Given the description of an element on the screen output the (x, y) to click on. 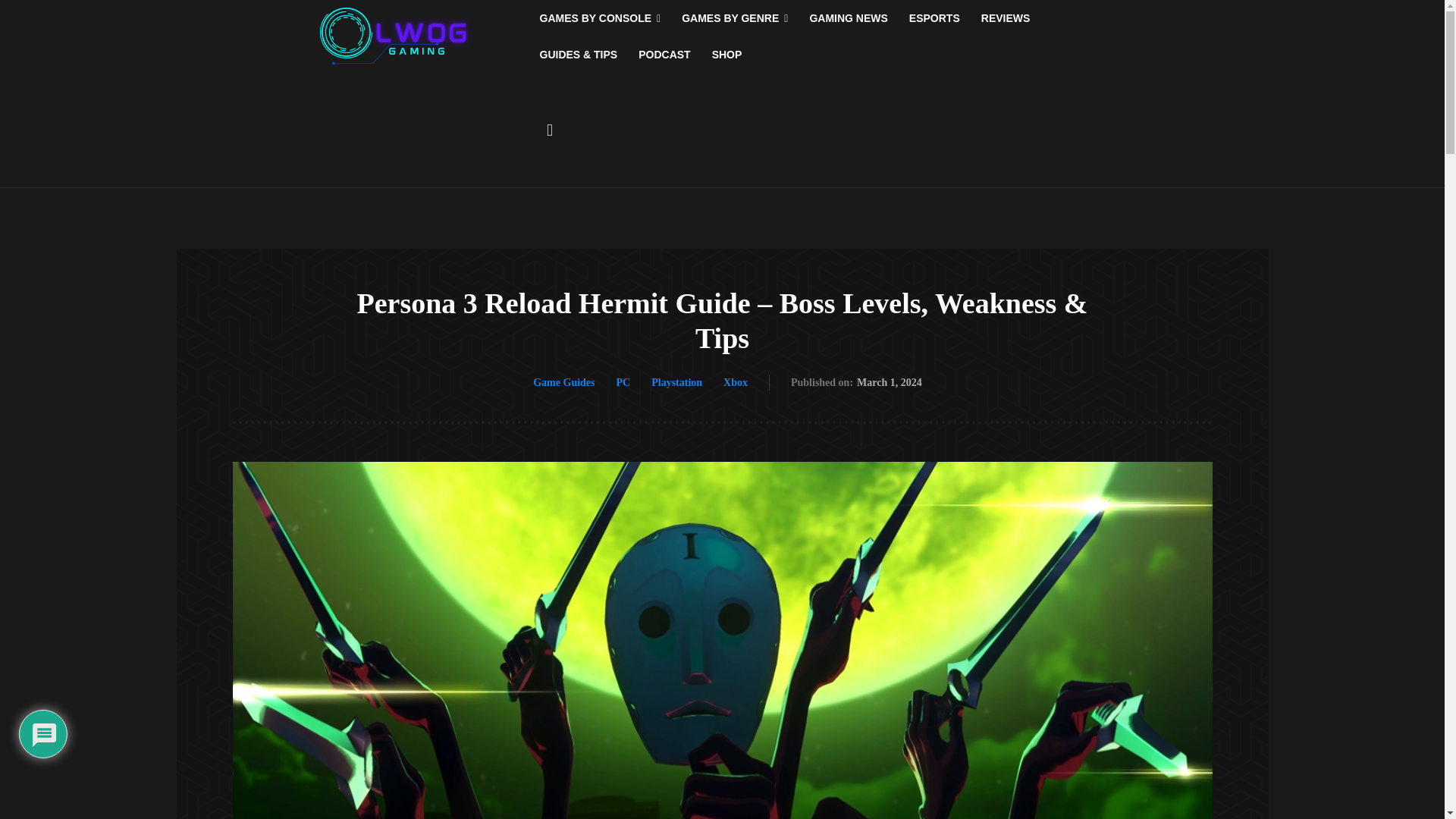
PC (622, 382)
Game Guides (563, 382)
PODCAST (663, 54)
SHOP (726, 54)
Playstation (675, 382)
GAMES BY CONSOLE (600, 18)
REVIEWS (1006, 18)
ESPORTS (934, 18)
GAMES BY GENRE (734, 18)
GAMING NEWS (847, 18)
Xbox (735, 382)
